Given the description of an element on the screen output the (x, y) to click on. 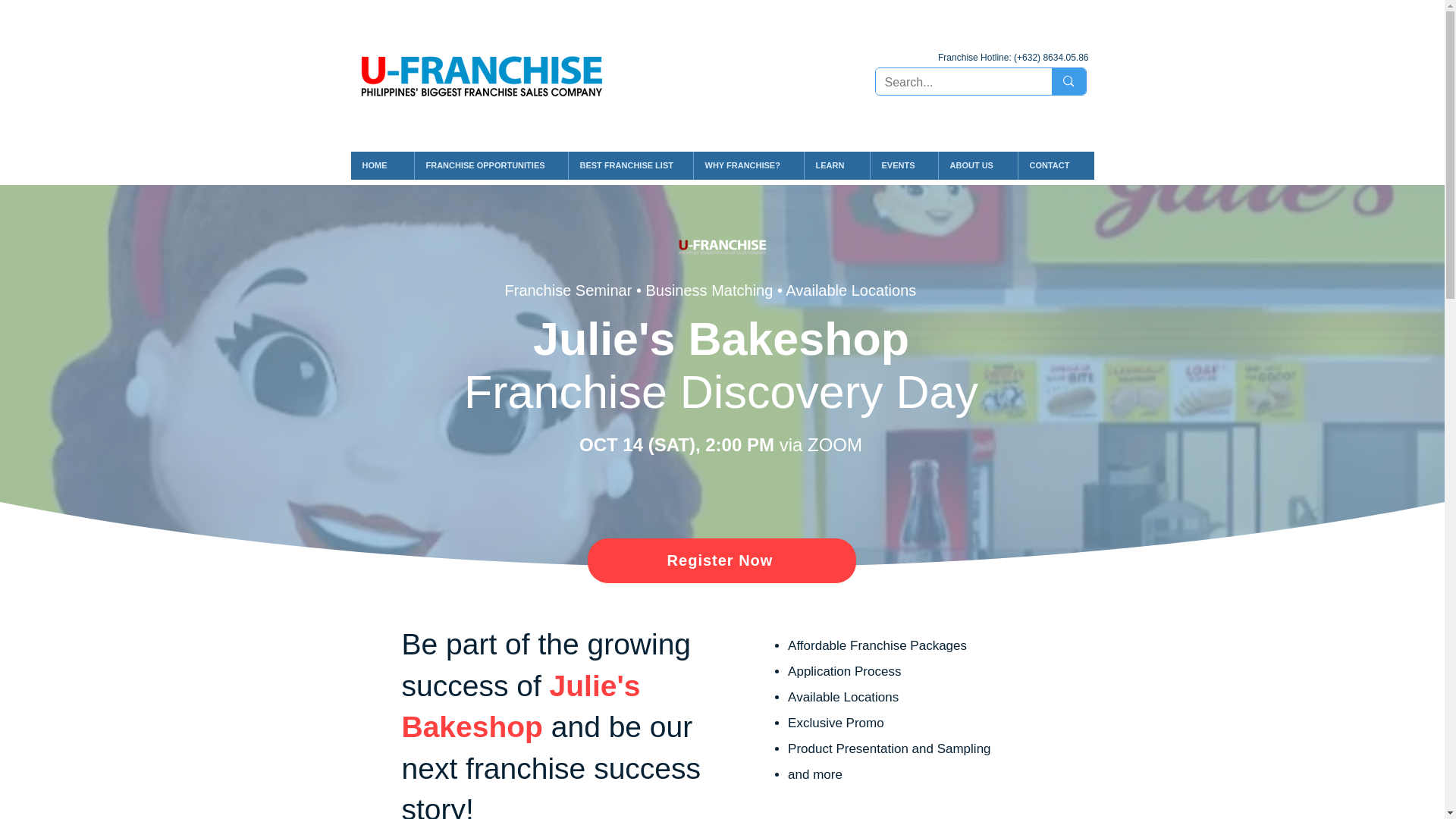
WHY FRANCHISE? (748, 165)
HOME (381, 165)
UFranchise Logo.png (482, 74)
CONTACT (1055, 165)
ABOUT US (976, 165)
BEST FRANCHISE LIST (630, 165)
EVENTS (903, 165)
Register Now (721, 560)
LEARN (836, 165)
FRANCHISE OPPORTUNITIES (490, 165)
